Given the description of an element on the screen output the (x, y) to click on. 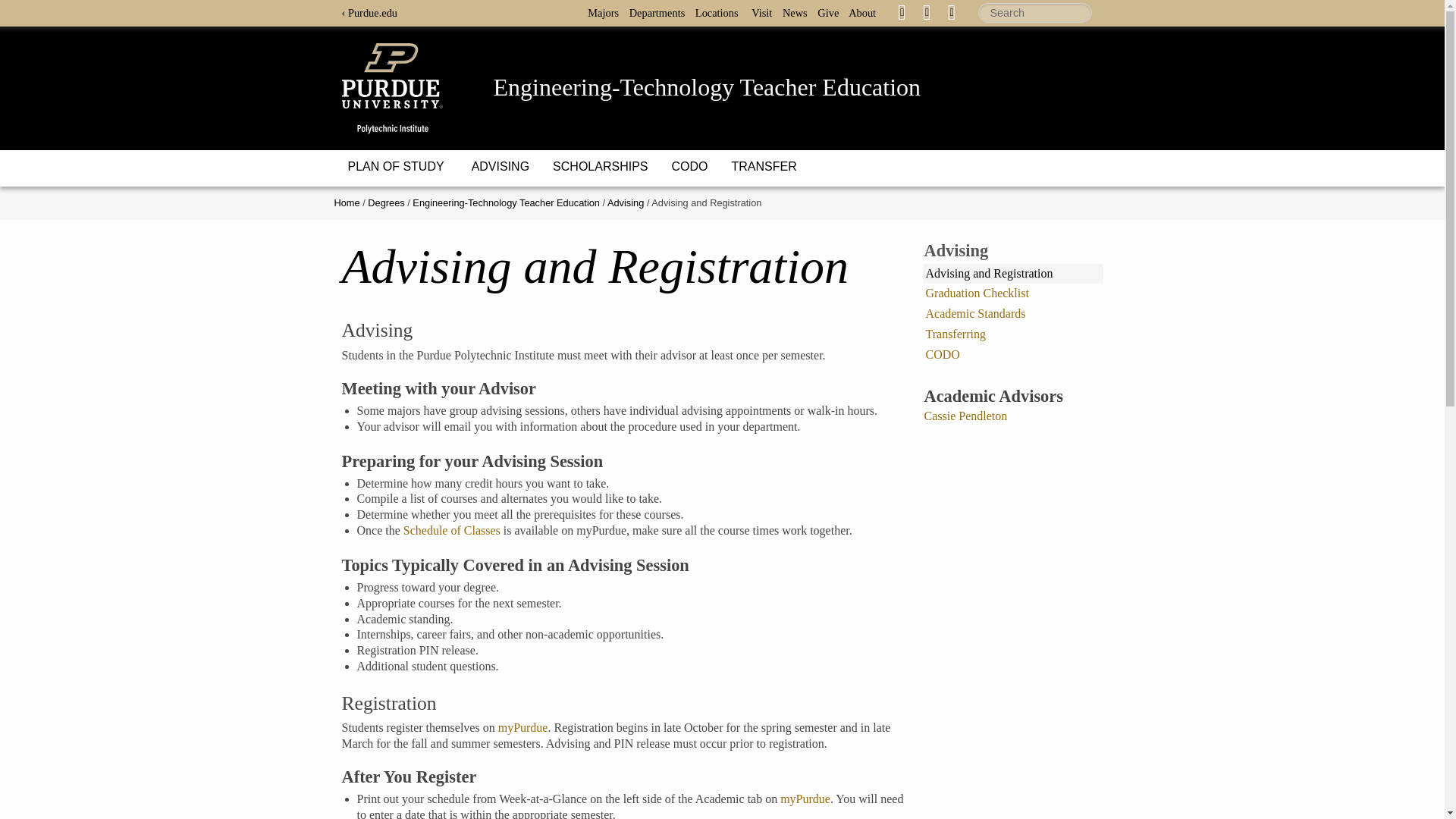
CODO (689, 167)
Link to facebook (901, 10)
facebook link (901, 12)
Schedule of Classes (451, 530)
Link to twitter (926, 10)
Visit (764, 12)
Engineering-Technology Teacher Education (706, 86)
Majors (607, 12)
News (799, 12)
Link to instagram (951, 10)
Give (830, 12)
instagram link (951, 12)
About (865, 12)
Departments (660, 12)
Enter the terms you wish to search for. (1035, 12)
